Given the description of an element on the screen output the (x, y) to click on. 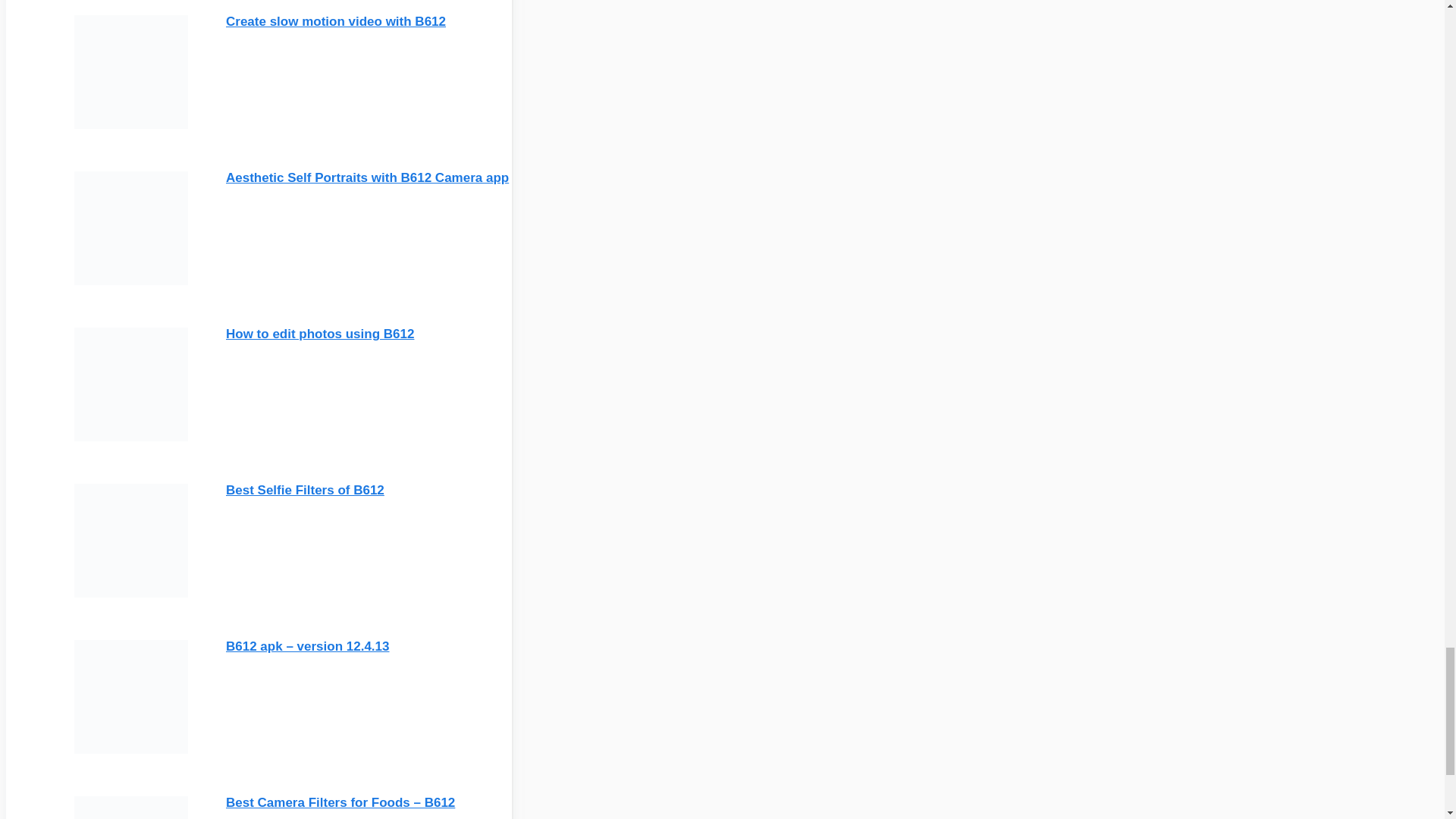
Best Selfie Filters of B612 (304, 489)
Create slow motion video with B612 (335, 20)
How to edit photos using B612 (319, 332)
Aesthetic Self Portraits with B612 Camera app (366, 176)
